Given the description of an element on the screen output the (x, y) to click on. 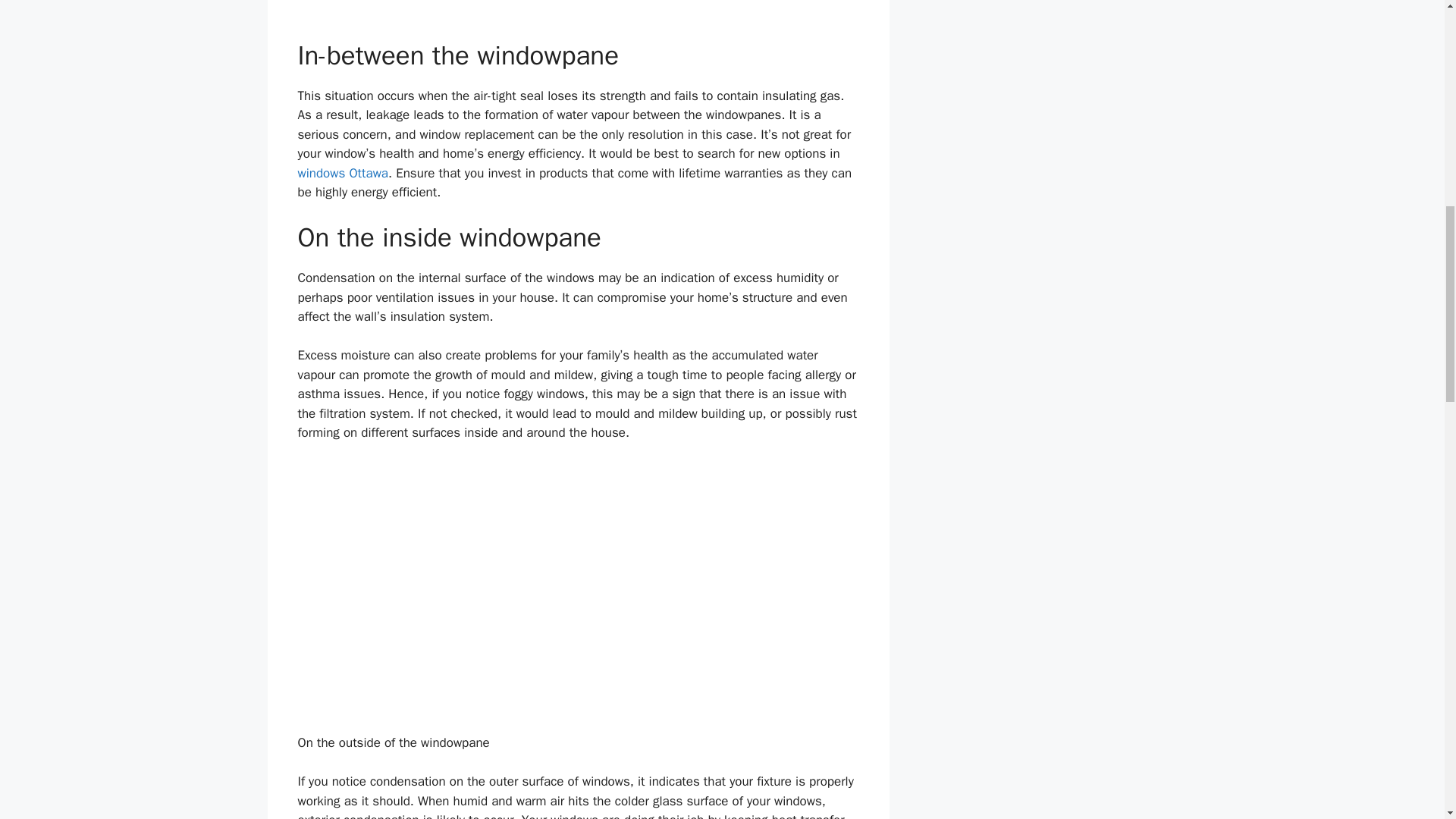
windows Ottawa (342, 172)
Scroll back to top (1406, 720)
